Given the description of an element on the screen output the (x, y) to click on. 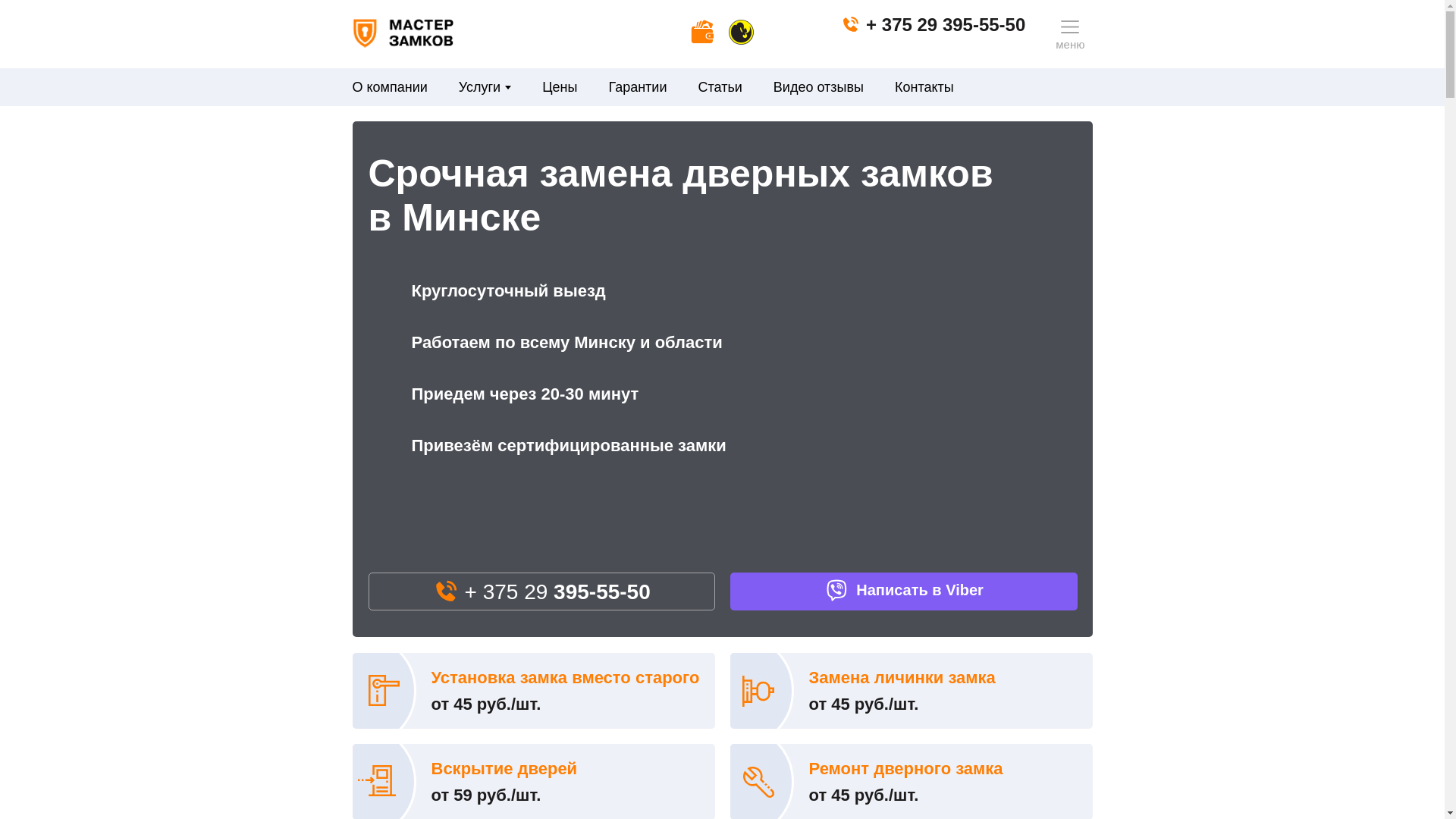
+ 375 29 395-55-50 Element type: text (932, 24)
+ 375 29 395-55-50 Element type: text (541, 591)
